Given the description of an element on the screen output the (x, y) to click on. 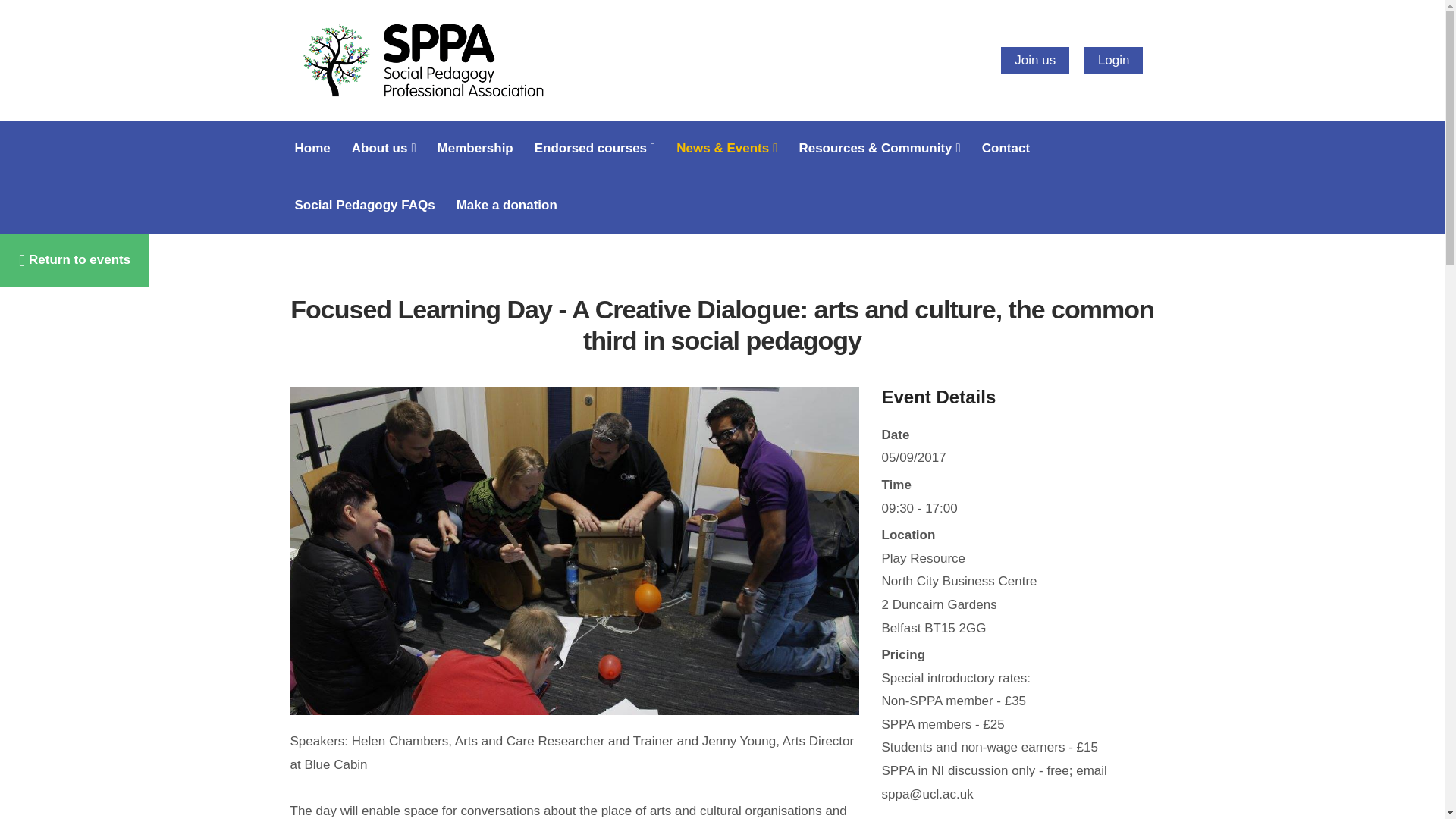
Login (1113, 59)
Membership (475, 148)
Join us (1034, 59)
About us (383, 148)
Endorsed courses (595, 148)
